Given the description of an element on the screen output the (x, y) to click on. 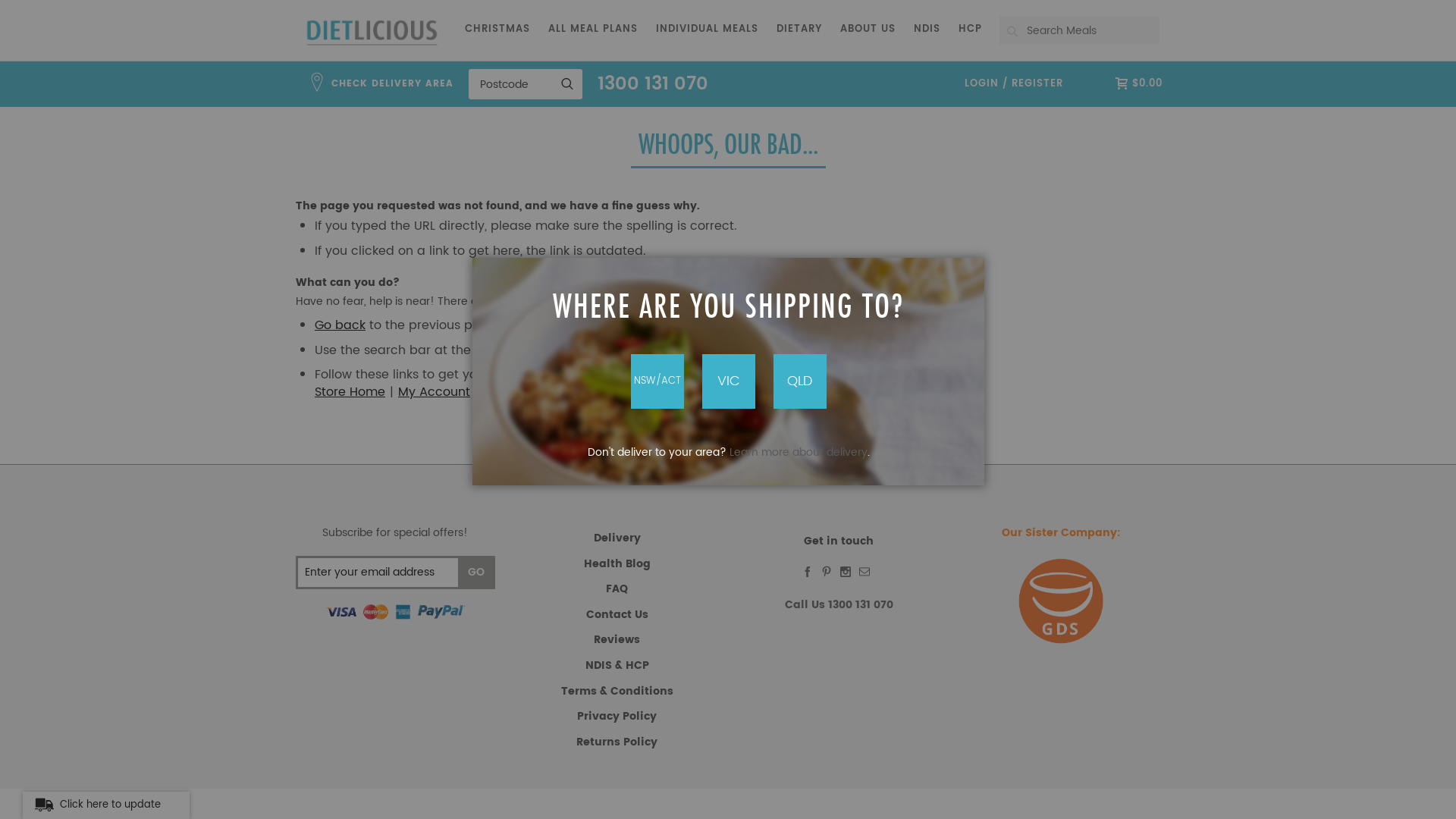
Learn more about delivery Element type: text (798, 452)
  Element type: text (810, 571)
FAQ Element type: text (616, 588)
NDIS Element type: text (926, 30)
GO Element type: text (476, 572)
Contact Us Element type: text (617, 614)
My Account Element type: text (434, 391)
CHRISTMAS Element type: text (497, 30)
Terms & Conditions Element type: text (617, 690)
DIETARY Element type: text (799, 30)
1300 131 070 Element type: text (652, 84)
Reviews Element type: text (616, 639)
Call Us 1300 131 070 Element type: text (838, 604)
Health Blog Element type: text (616, 563)
  Element type: text (829, 571)
$0.00 Element type: text (1138, 83)
QLD Element type: text (799, 381)
Search Element type: text (1012, 30)
NSW/ACT Element type: text (657, 381)
Go back Element type: text (339, 325)
ABOUT US Element type: text (867, 30)
ALL MEAL PLANS Element type: text (592, 30)
NDIS & HCP Element type: text (617, 665)
HCP Element type: text (970, 30)
Store Home Element type: text (349, 391)
Dietlicious | Healthy Meals Home Delivered Element type: hover (371, 32)
Privacy Policy Element type: text (616, 715)
Delivery Element type: text (616, 537)
Returns Policy Element type: text (616, 741)
INDIVIDUAL MEALS Element type: text (706, 30)
VIC Element type: text (728, 381)
  Element type: text (867, 571)
  Element type: text (848, 571)
LOGIN / REGISTER Element type: text (1013, 83)
